Given the description of an element on the screen output the (x, y) to click on. 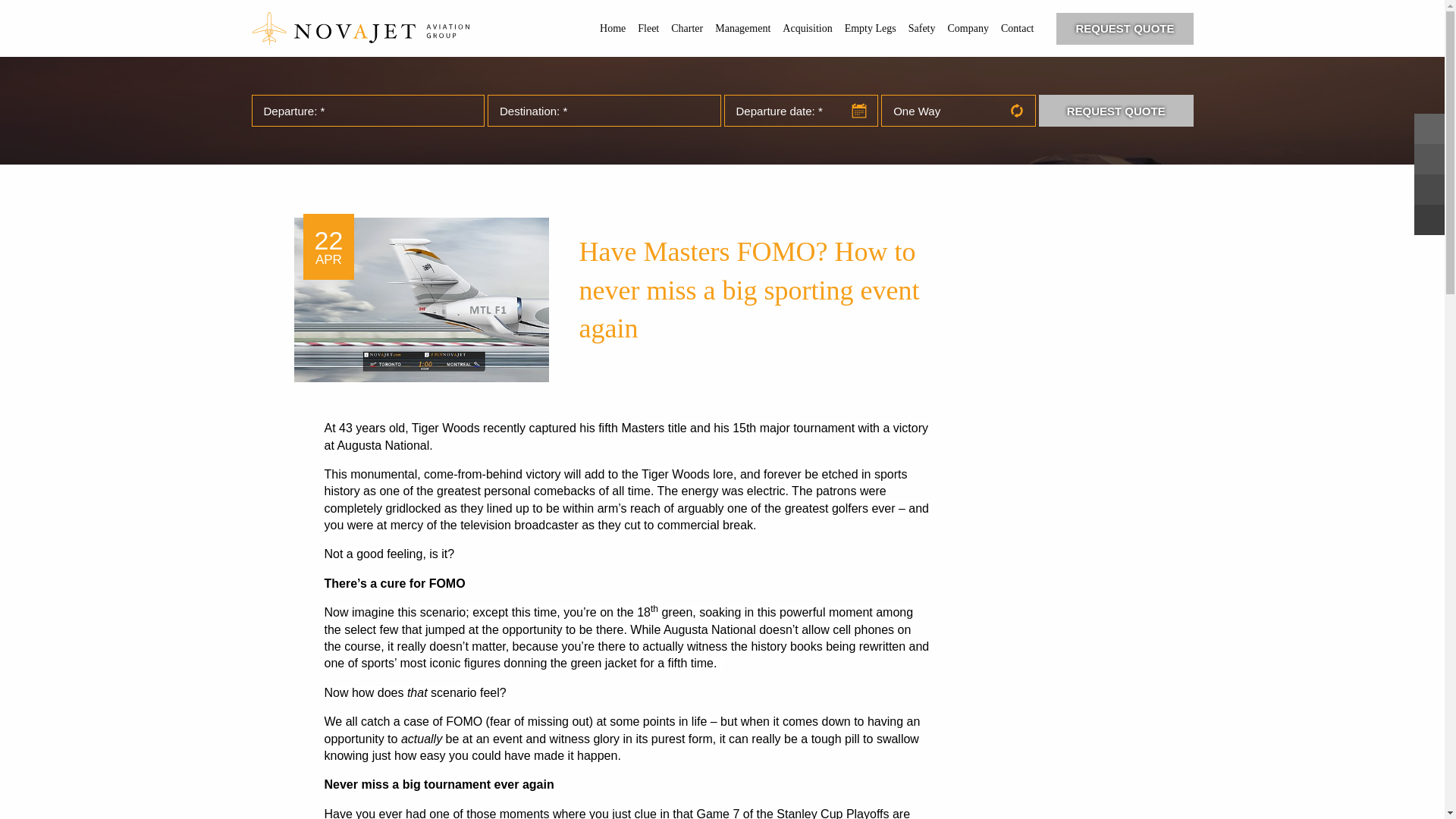
Home (612, 28)
Charter (687, 28)
REQUEST QUOTE (1124, 29)
Fleet (648, 28)
Empty Legs (870, 28)
Company (967, 28)
Acquisition (807, 28)
REQUEST QUOTE (1116, 110)
Contact (1017, 28)
Management (742, 28)
